Given the description of an element on the screen output the (x, y) to click on. 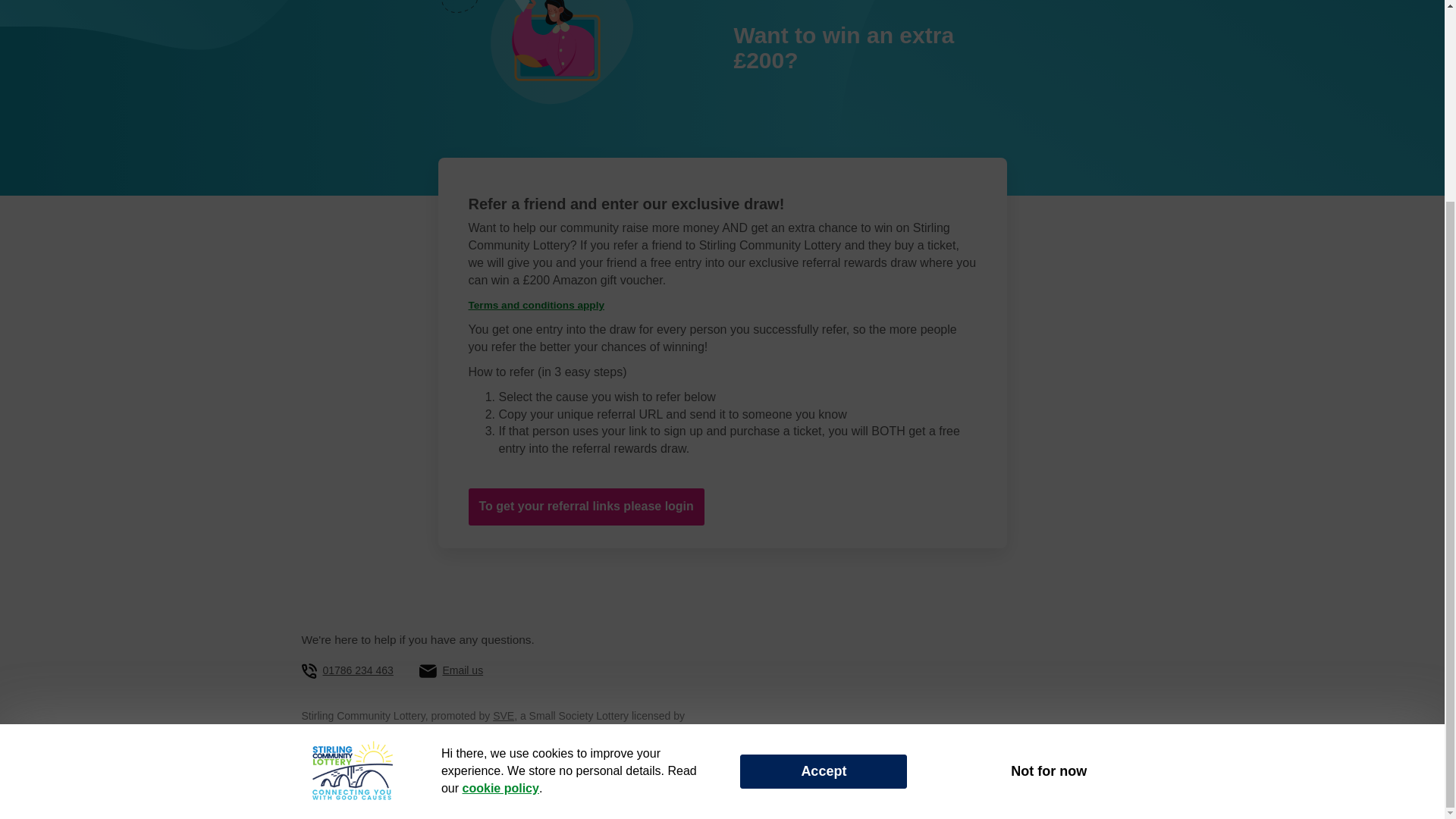
SVE (503, 715)
Not for now (1048, 513)
Terms and conditions apply (536, 305)
Accept (823, 513)
Email us (462, 670)
To get your referral links please login (586, 506)
01786 234 463 (357, 670)
cookie policy (500, 530)
Gatherwell (364, 791)
